Given the description of an element on the screen output the (x, y) to click on. 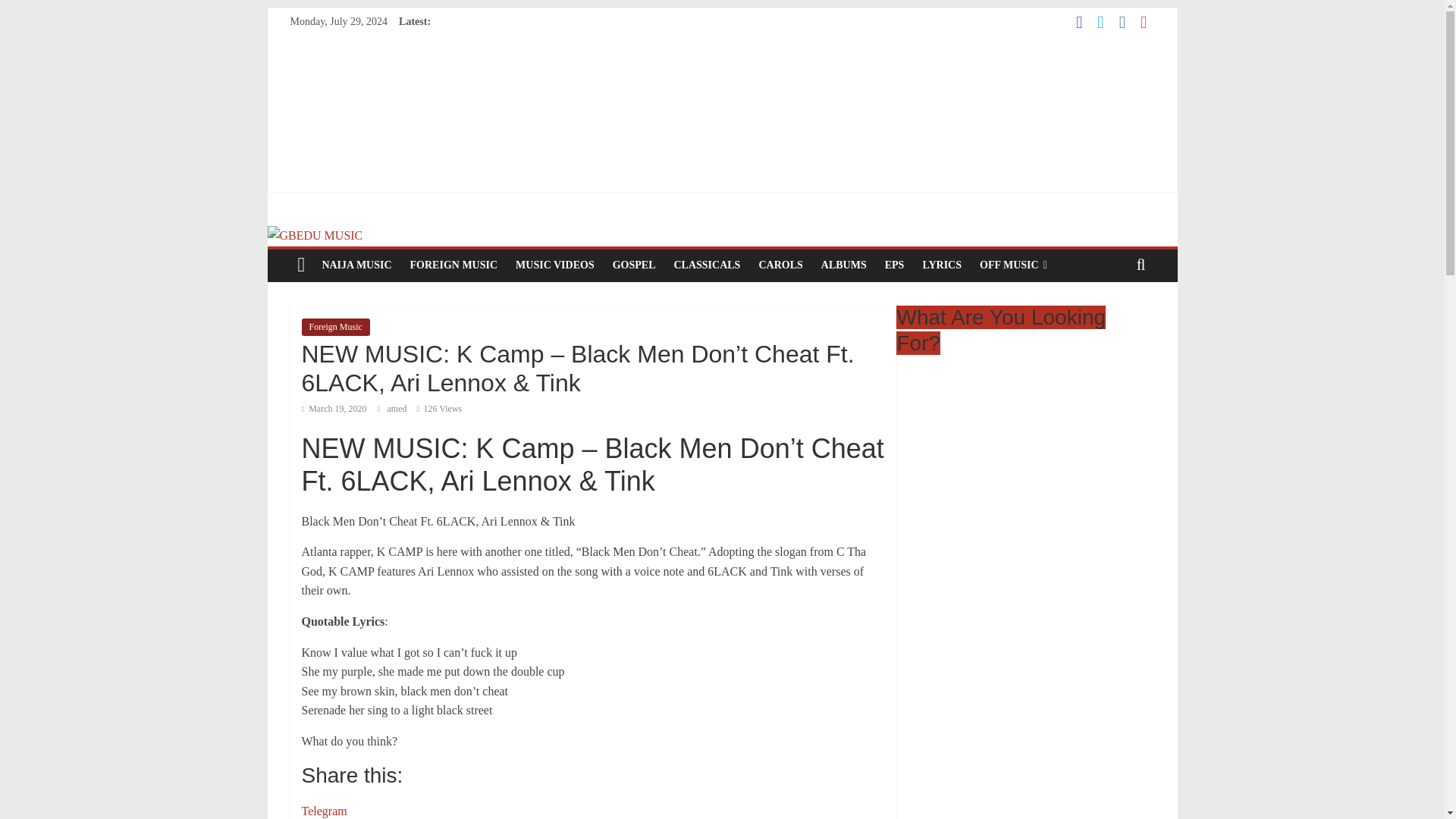
GBEDU MUSIC (314, 235)
GOSPEL (634, 265)
amed (398, 408)
Click to share on Telegram (324, 810)
CAROLS (779, 265)
LYRICS (941, 265)
MUSIC VIDEOS (555, 265)
CLASSICALS (706, 265)
ALBUMS (844, 265)
NAIJA MUSIC (356, 265)
OFF MUSIC (1014, 265)
4:48 pm (333, 408)
FOREIGN MUSIC (453, 265)
EPS (895, 265)
